Given the description of an element on the screen output the (x, y) to click on. 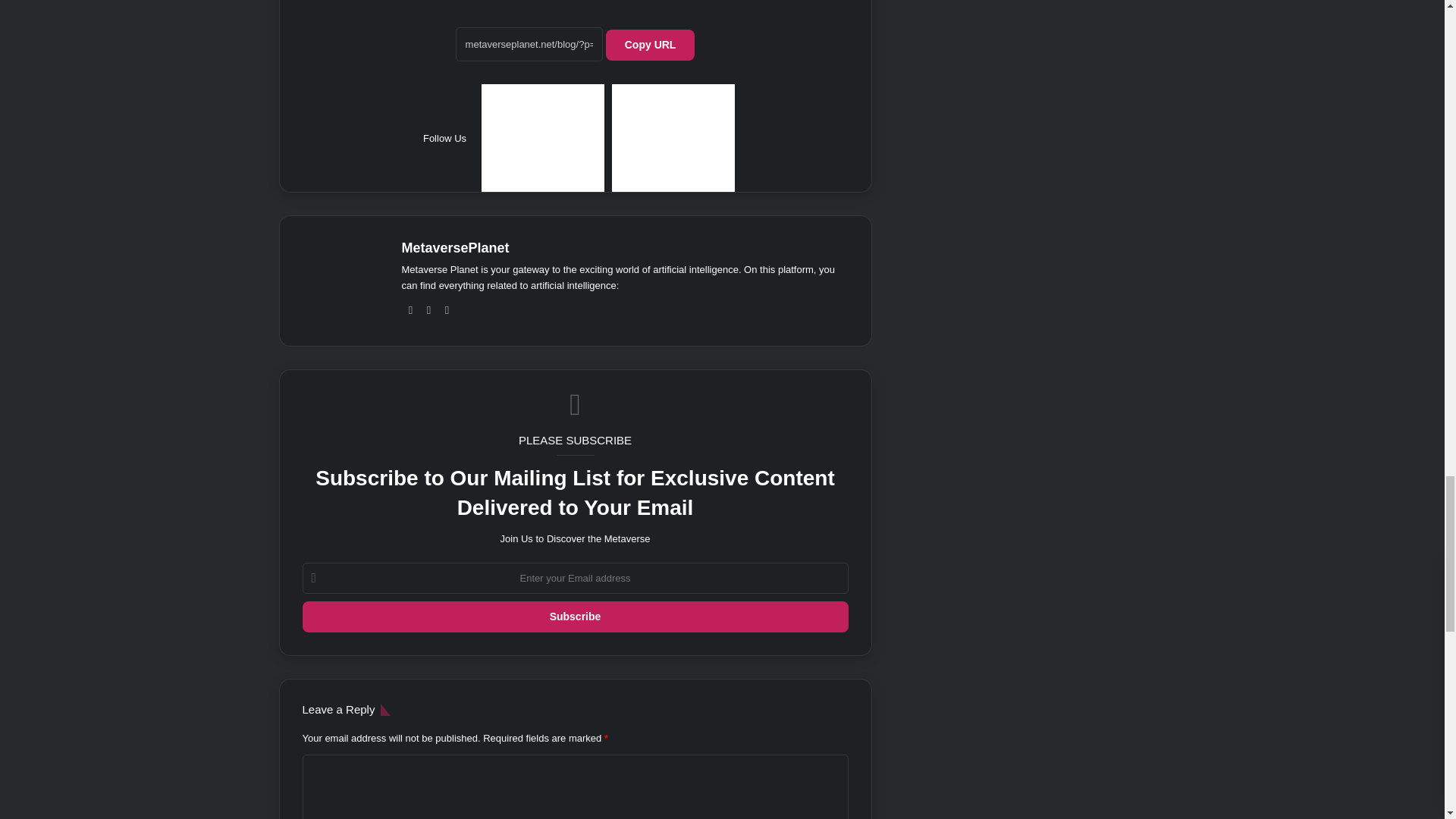
Subscribe (574, 616)
